Given the description of an element on the screen output the (x, y) to click on. 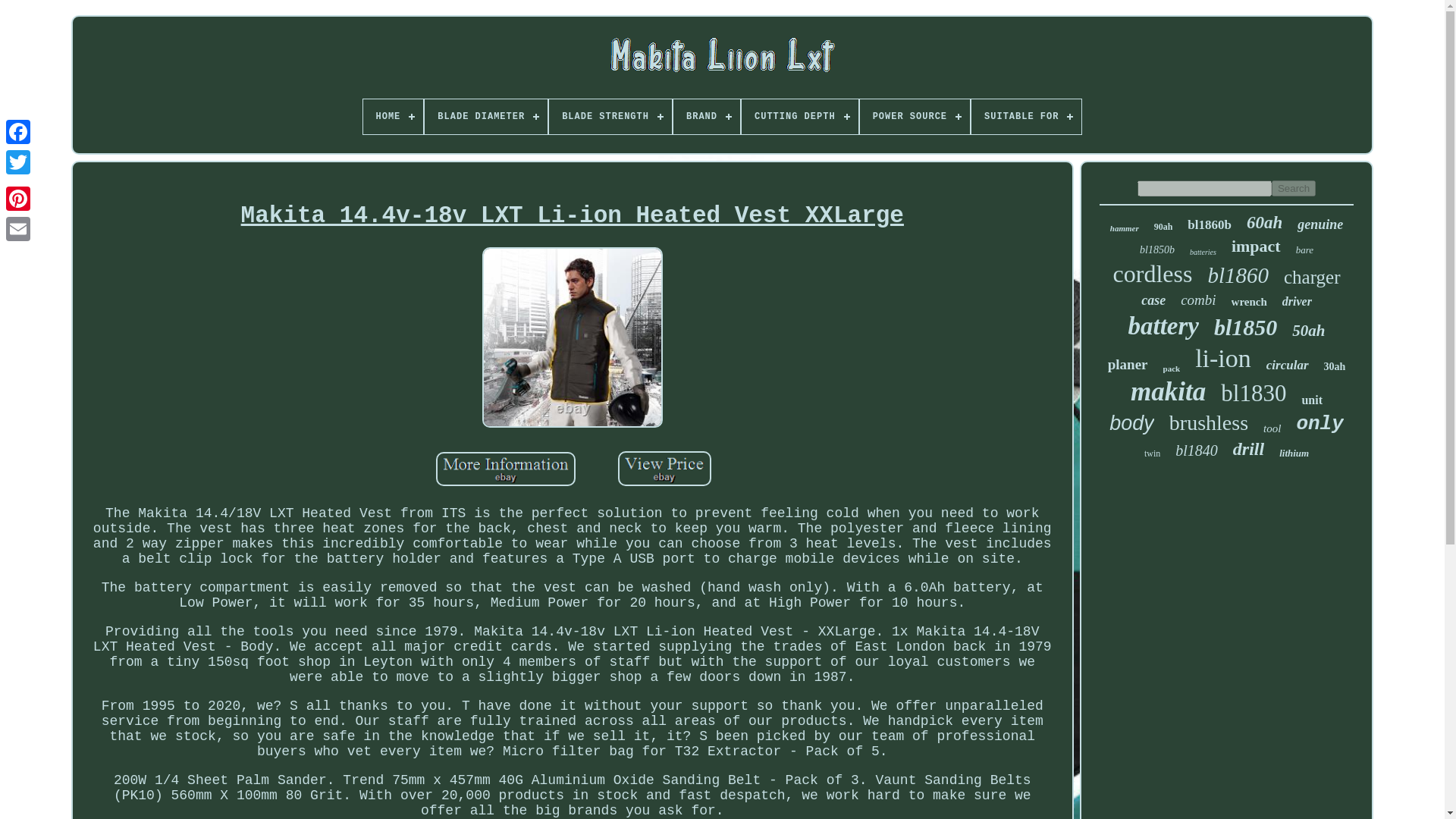
Makita 14.4v-18v Lxt Li-ion Heated Vest Xxlarge (572, 215)
Makita 14.4v-18v Lxt Li-ion Heated Vest Xxlarge (504, 471)
Makita 14.4v-18v Lxt Li-ion Heated Vest Xxlarge (664, 470)
Makita 14.4v-18v LXT Li-ion Heated Vest XXLarge (571, 337)
HOME (392, 116)
Makita 14.4v-18v LXT Li-ion Heated Vest XXLarge (664, 468)
Search (1293, 188)
BLADE DIAMETER (486, 116)
BRAND (705, 116)
Makita 14.4v-18v Lxt Li-ion Heated Vest Xxlarge (572, 339)
Makita 14.4v-18v LXT Li-ion Heated Vest XXLarge (505, 469)
BLADE STRENGTH (609, 116)
